Given the description of an element on the screen output the (x, y) to click on. 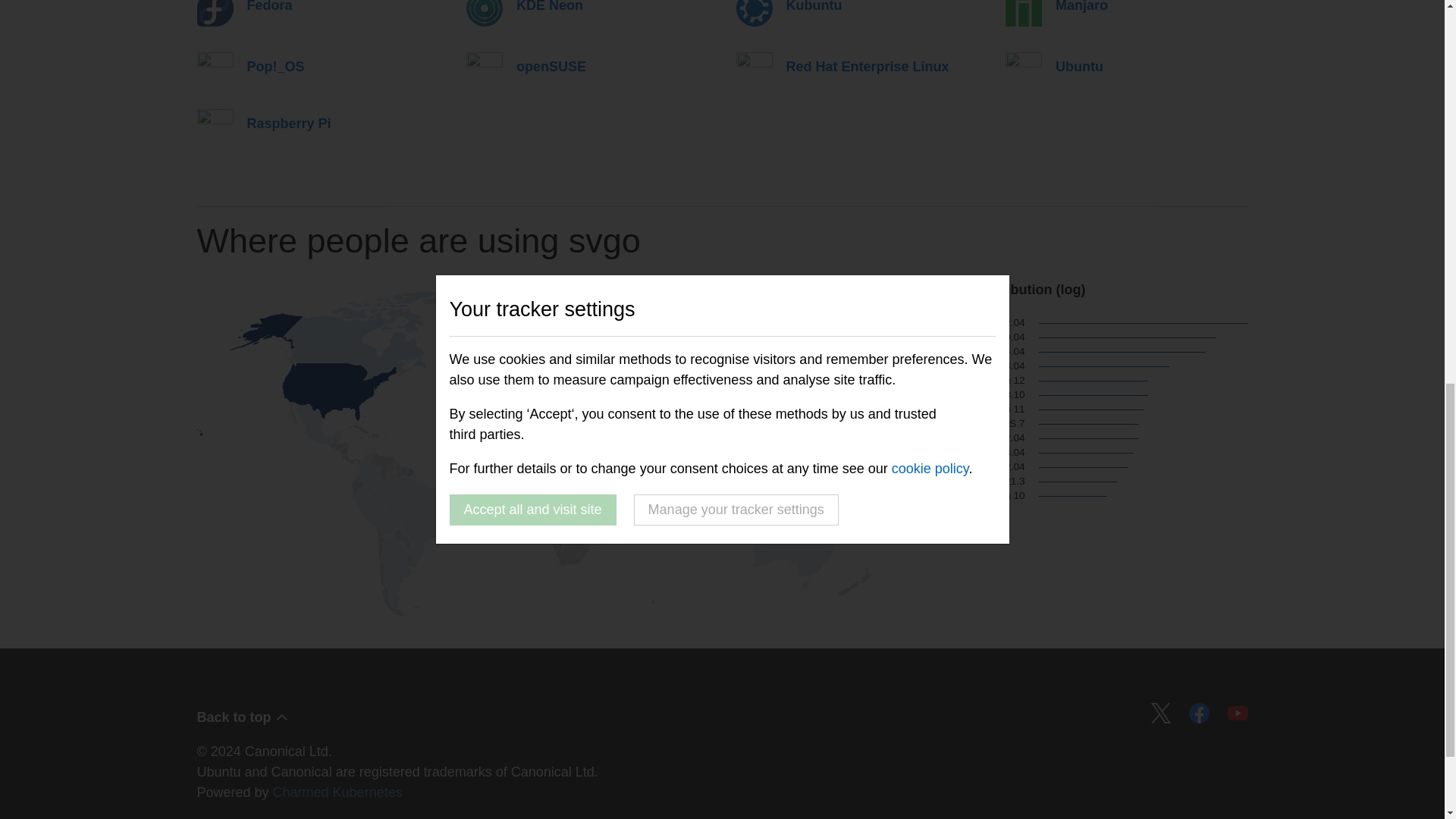
KDE Neon 22.04 (970, 467)
Debian 12 (970, 380)
CentOS 7 (970, 423)
Ubuntu 24.04 (970, 351)
Ubuntu 23.10 (970, 395)
Ubuntu 20.04 (970, 336)
Ubuntu 23.04 (970, 452)
Debian 10 (970, 495)
Ubuntu 18.04 (970, 366)
pop 22.04 (970, 438)
